Given the description of an element on the screen output the (x, y) to click on. 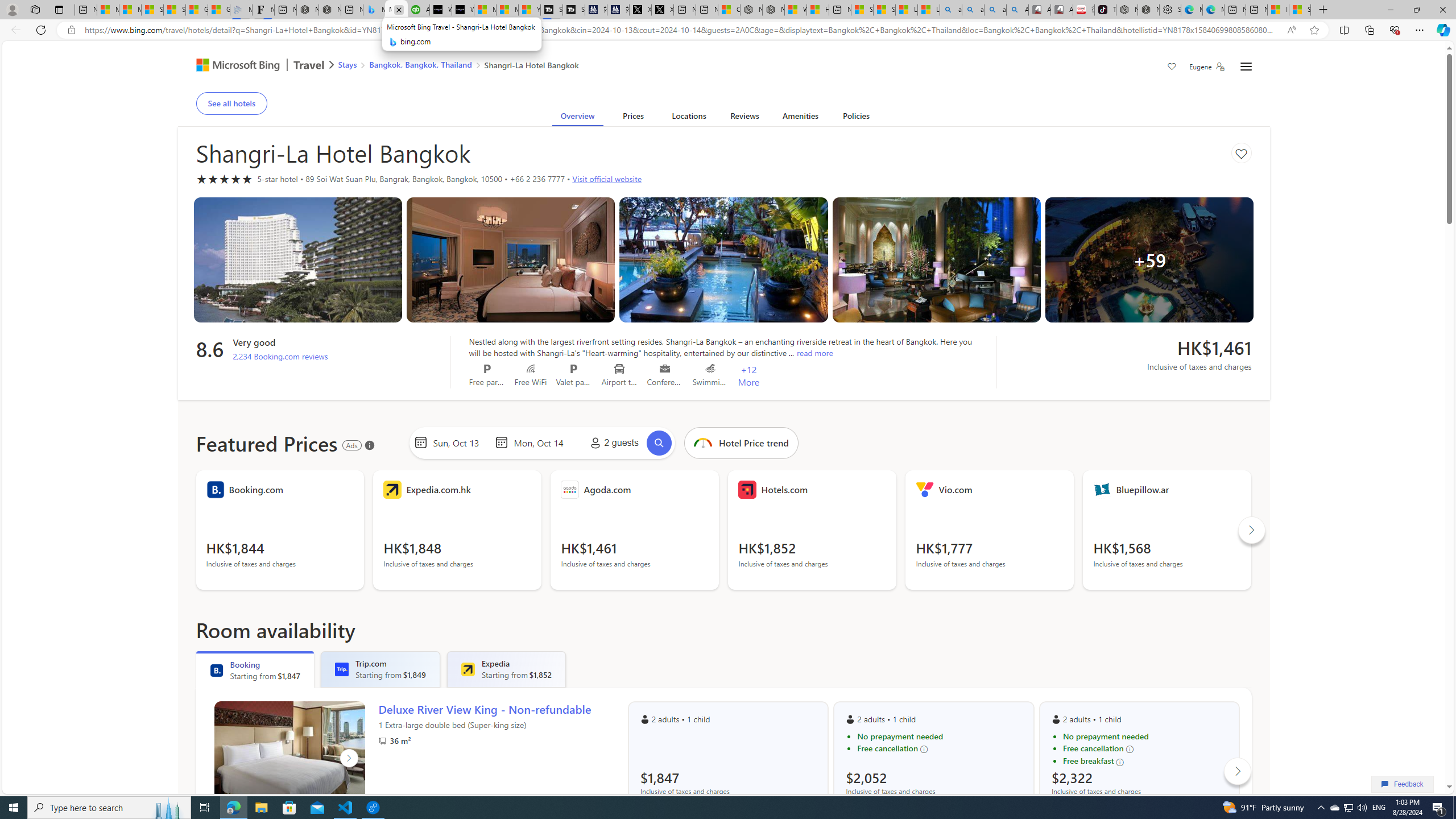
No prepayment needed (1144, 736)
Free breakfast (1144, 761)
Hotel room image + 59 (1149, 259)
